Given the description of an element on the screen output the (x, y) to click on. 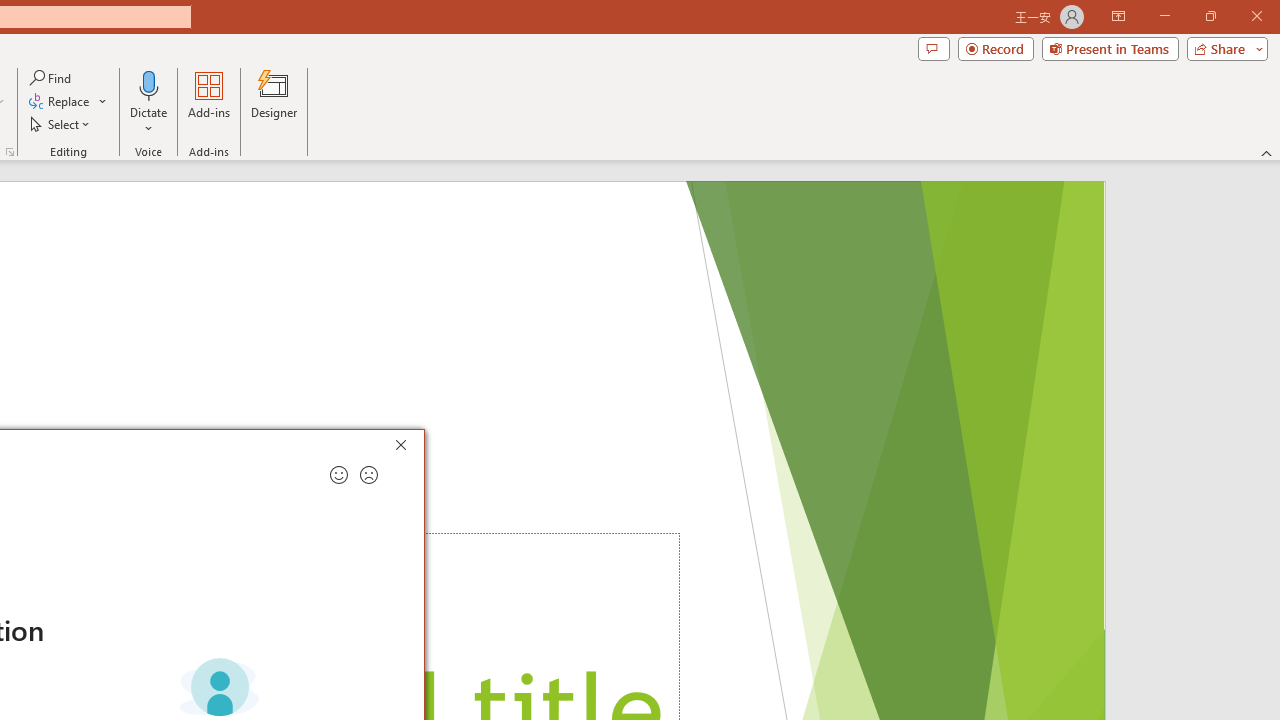
Send a smile for feedback (338, 475)
